Given the description of an element on the screen output the (x, y) to click on. 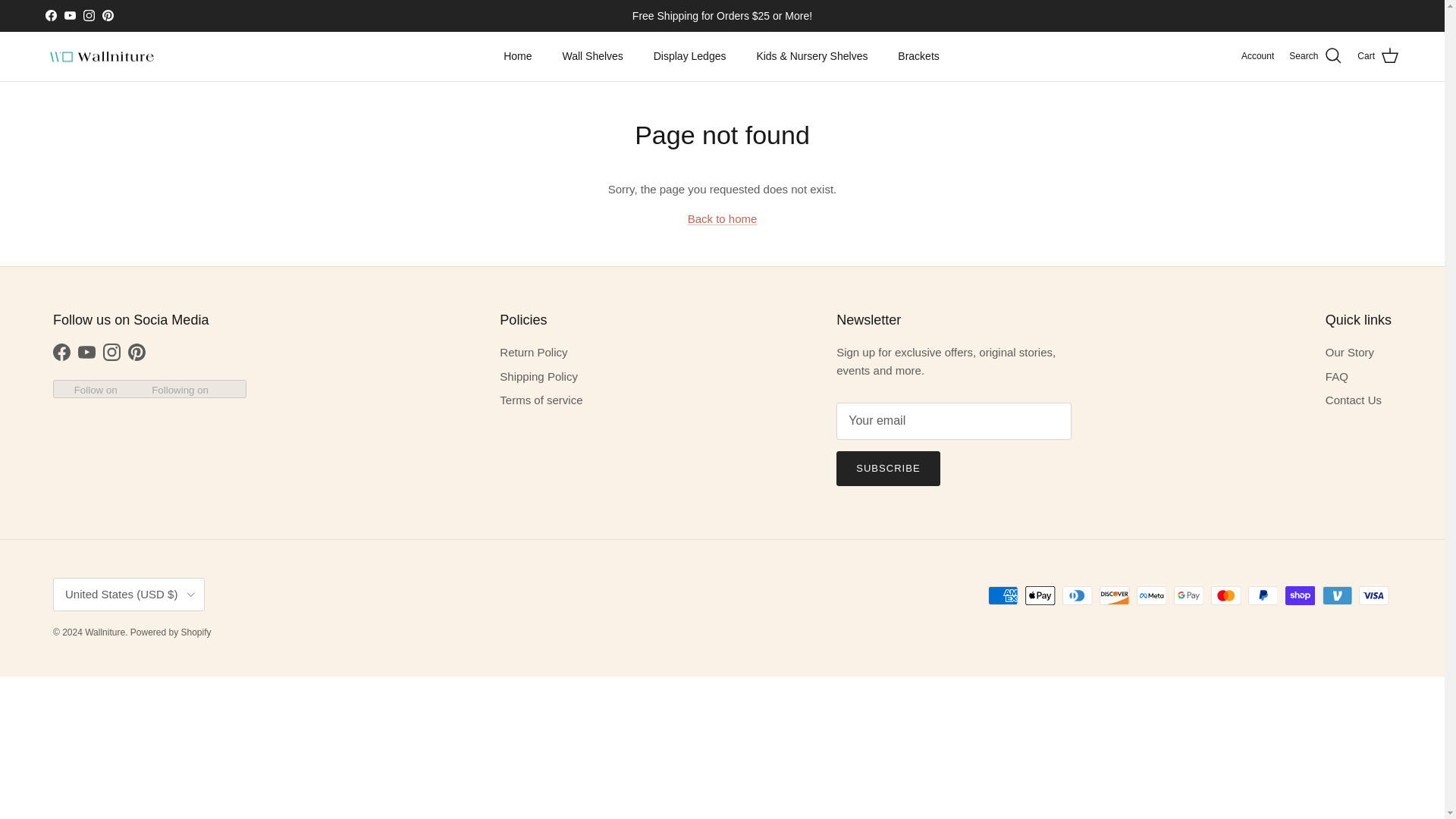
Account (1257, 56)
Shop Pay (1299, 595)
Wall Shelves (592, 56)
Wallniture on Instagram (88, 15)
Venmo (1337, 595)
Wallniture on YouTube (69, 15)
Diners Club (1077, 595)
Facebook (50, 15)
Search (1315, 55)
Cart (1377, 55)
